Given the description of an element on the screen output the (x, y) to click on. 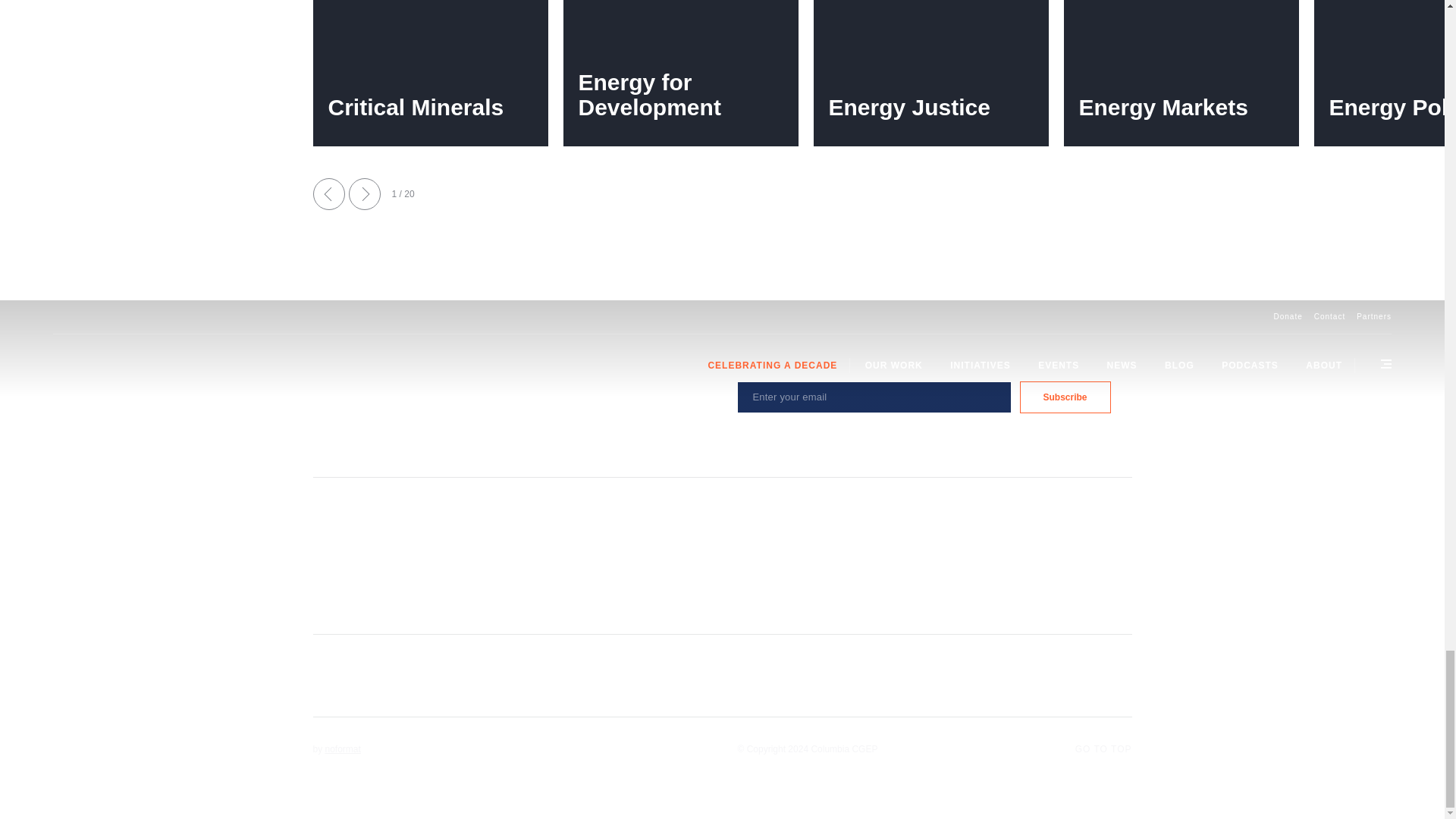
Subscribe (1064, 397)
